Given the description of an element on the screen output the (x, y) to click on. 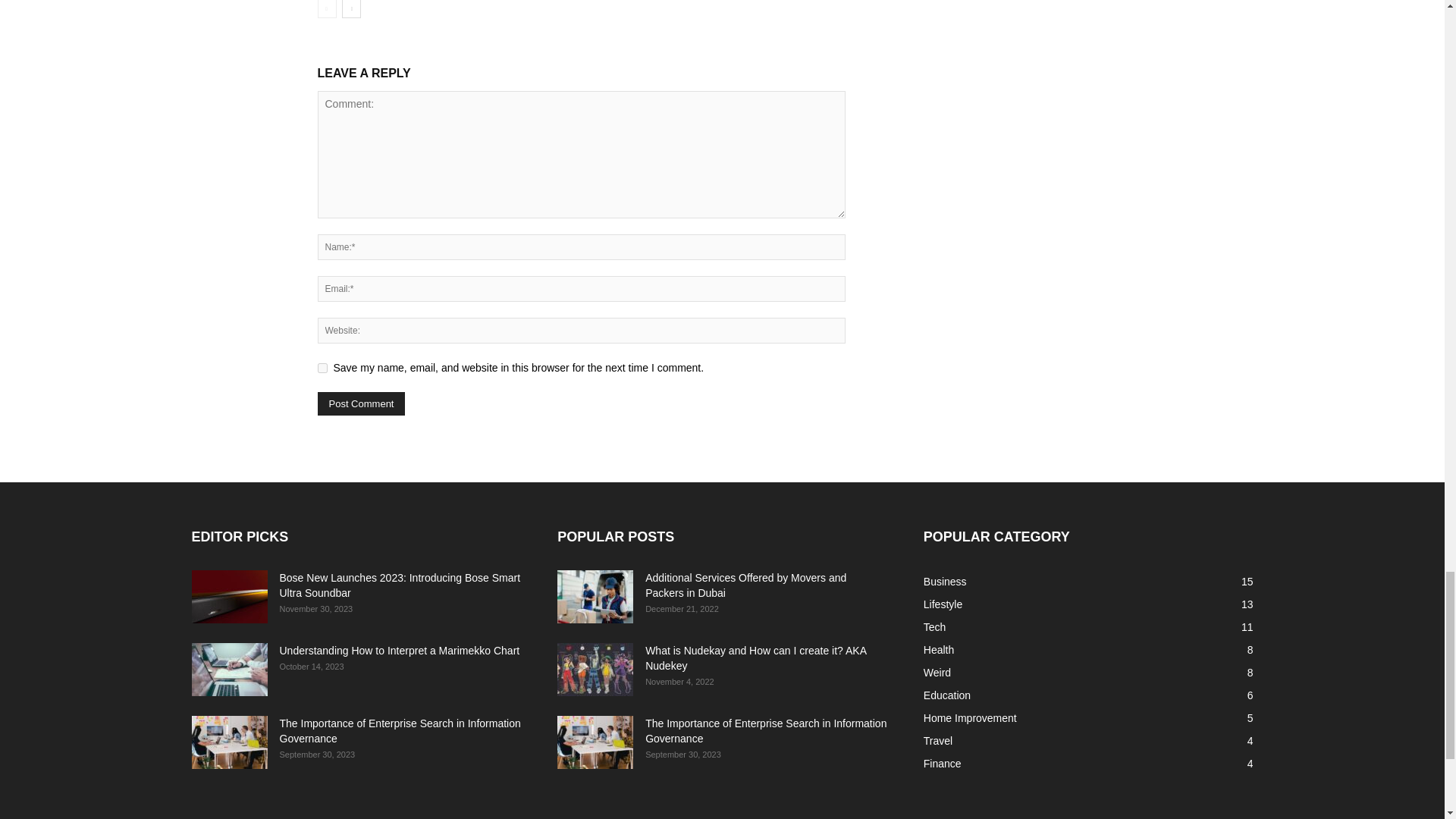
Post Comment (360, 403)
yes (321, 368)
